Given the description of an element on the screen output the (x, y) to click on. 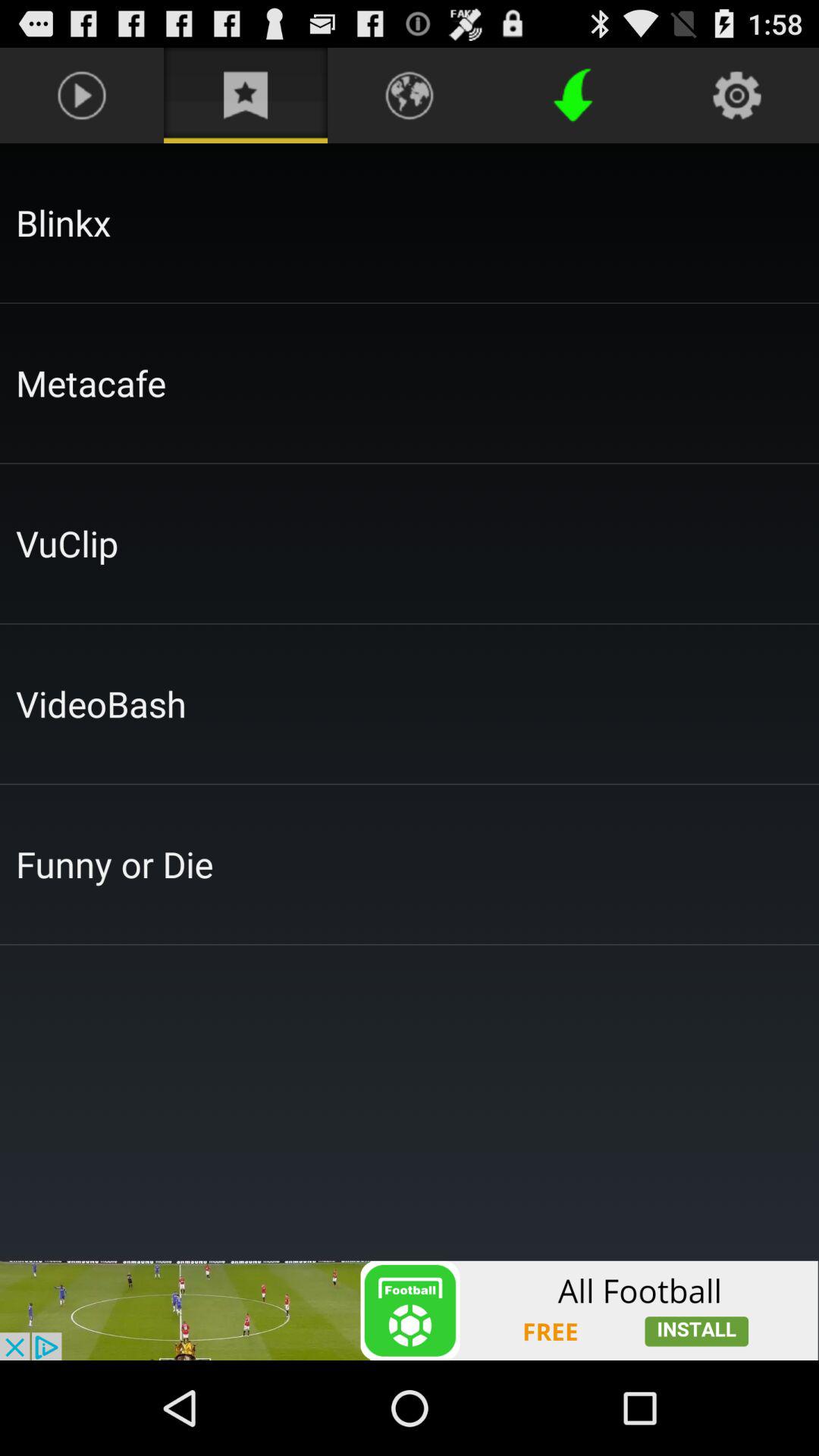
advertisement (409, 1310)
